Given the description of an element on the screen output the (x, y) to click on. 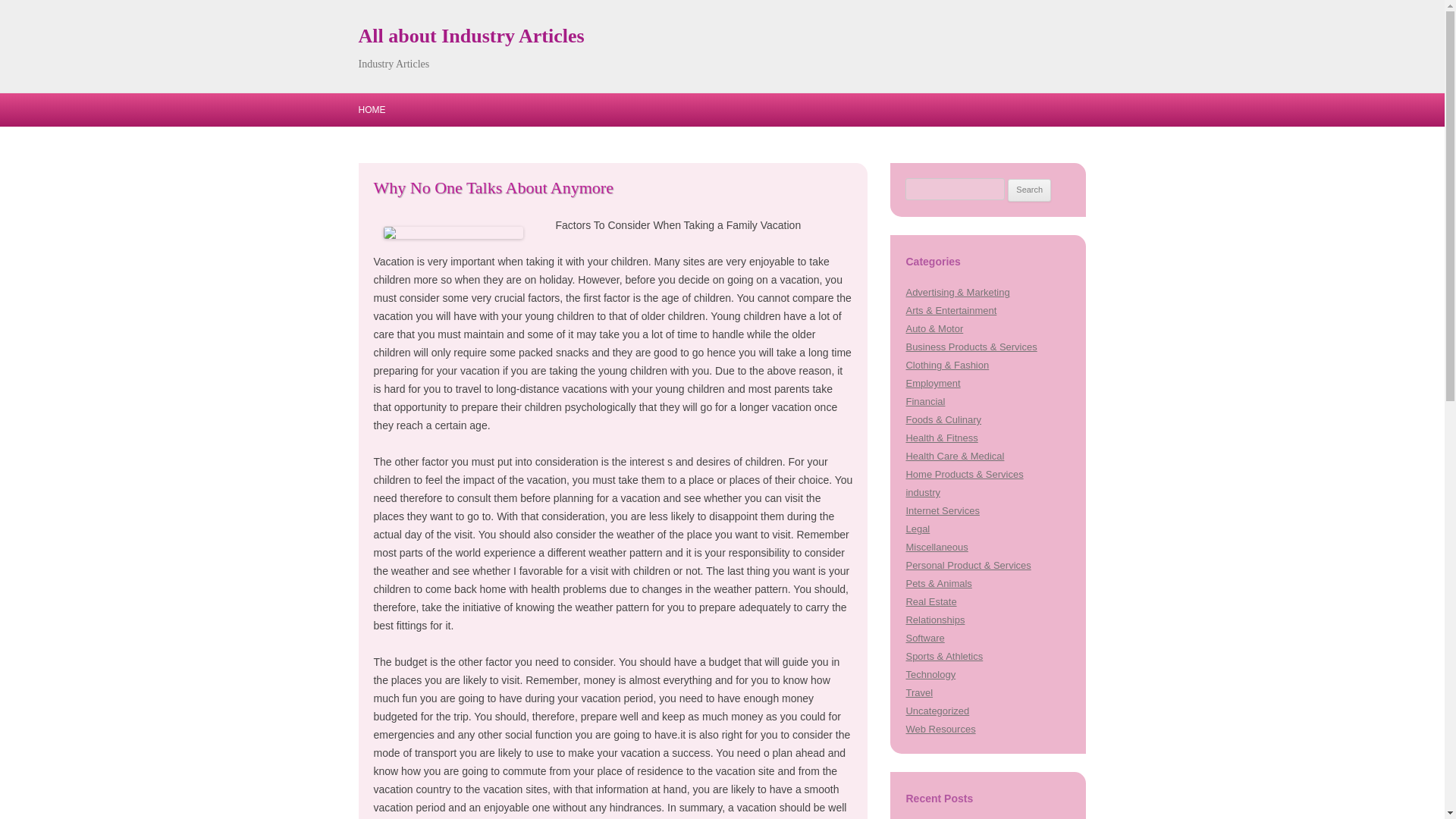
Software (924, 637)
Miscellaneous (936, 546)
Travel (919, 692)
All about Industry Articles (470, 36)
Financial (924, 401)
All about Industry Articles (470, 36)
Search (1029, 190)
Employment (932, 383)
Internet Services (941, 510)
Technology (930, 674)
Web Resources (940, 728)
Real Estate (930, 601)
Search (1029, 190)
industry (922, 491)
